Given the description of an element on the screen output the (x, y) to click on. 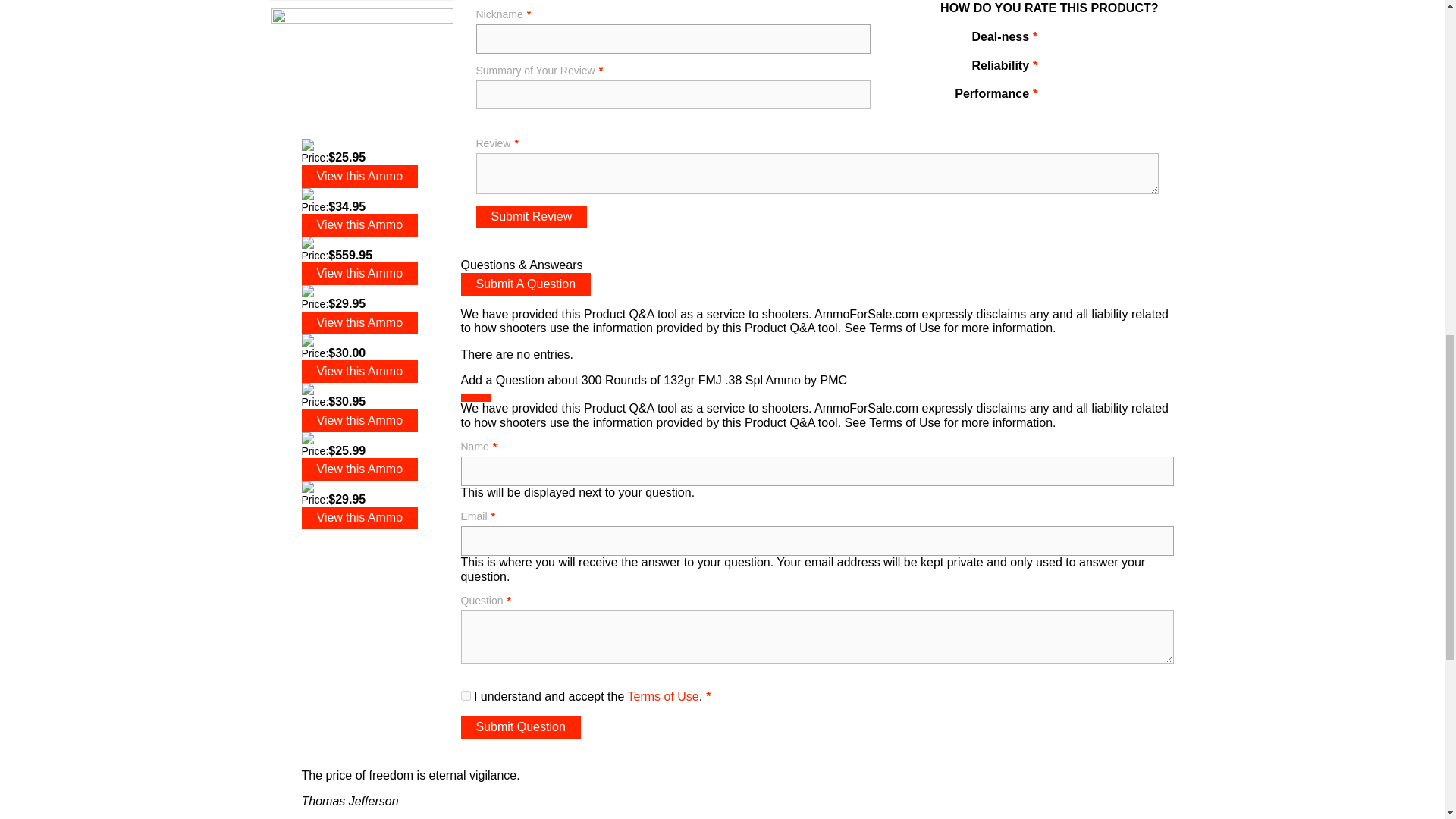
2 (1080, 40)
1 (1059, 69)
1 (1059, 40)
4 (1123, 40)
3 (1101, 40)
2 (1080, 69)
5 (1144, 40)
on (465, 696)
